Given the description of an element on the screen output the (x, y) to click on. 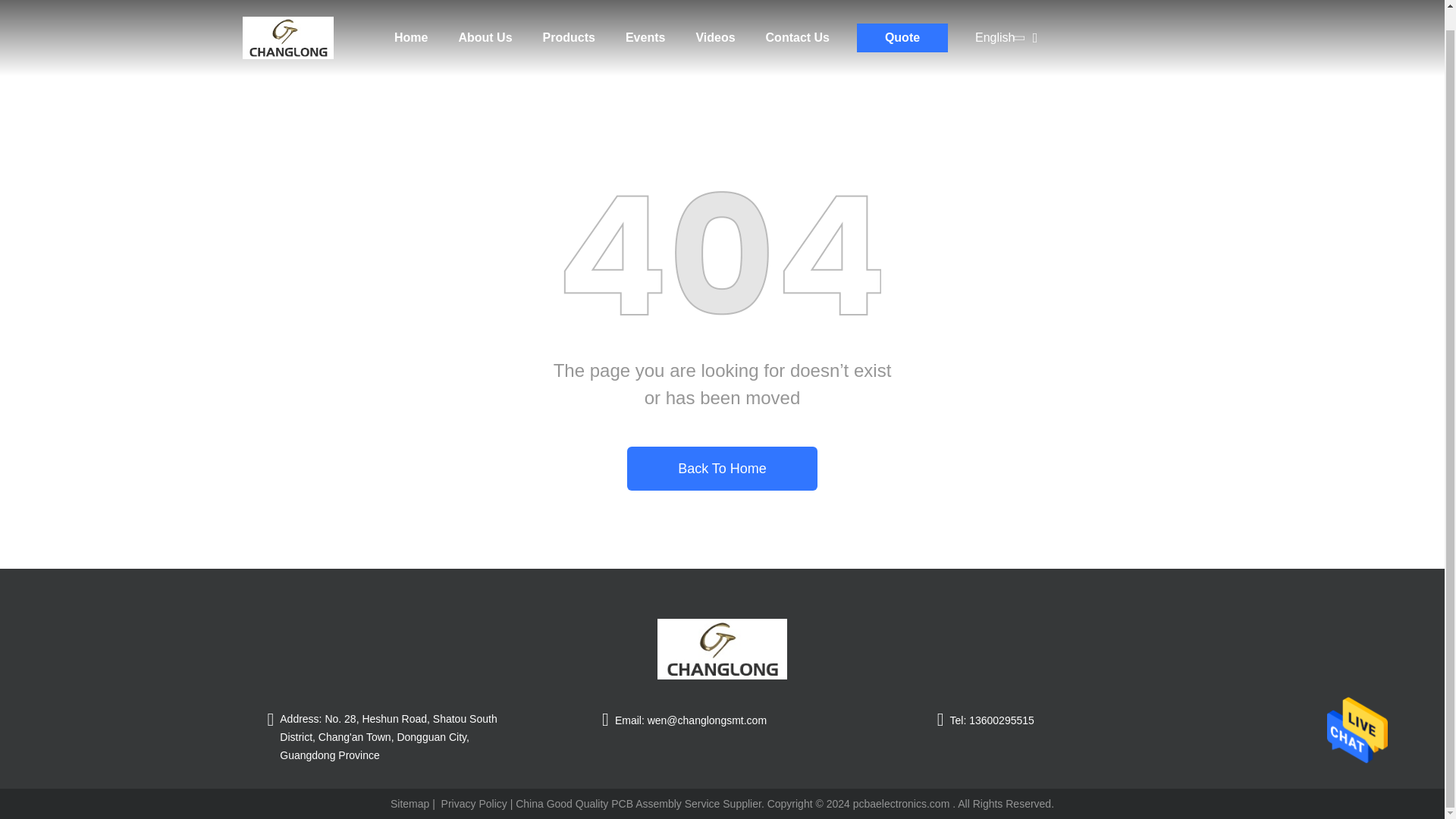
About Us (485, 28)
Products (569, 28)
Products (569, 28)
Contact Us (797, 28)
Quote (902, 18)
Home (288, 20)
About Us (485, 28)
